Given the description of an element on the screen output the (x, y) to click on. 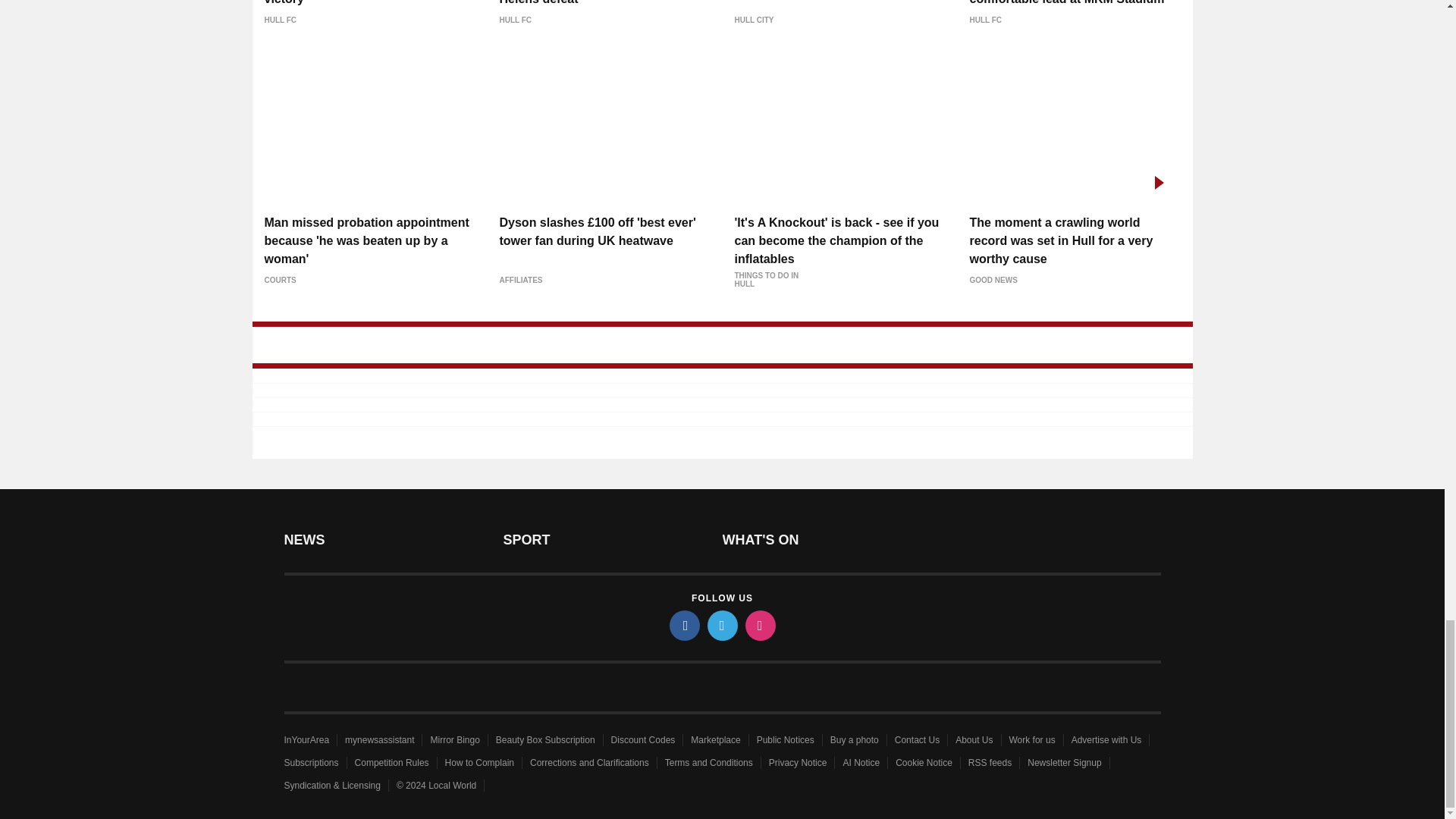
facebook (683, 625)
instagram (759, 625)
twitter (721, 625)
